Given the description of an element on the screen output the (x, y) to click on. 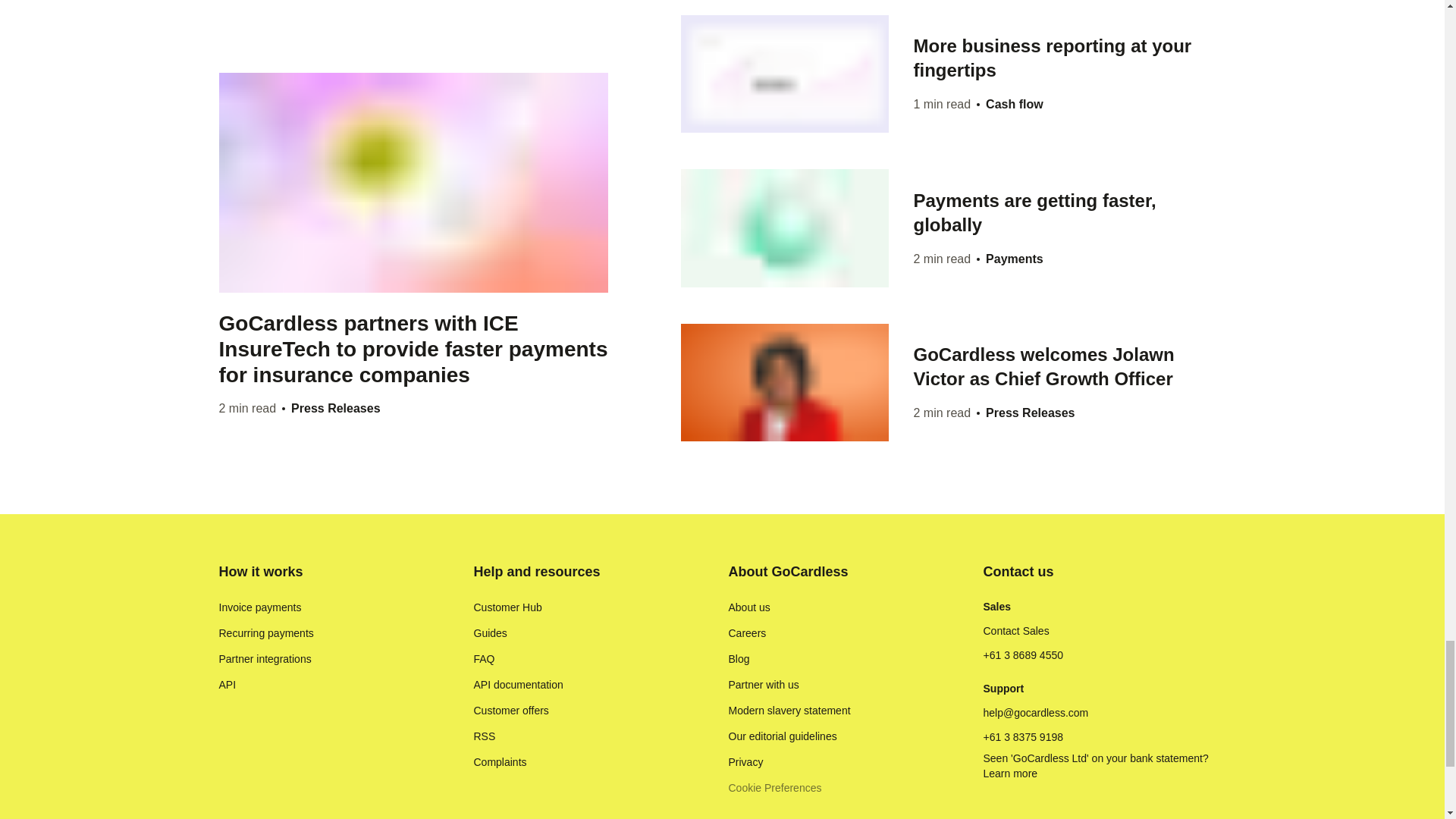
Customer offers (510, 710)
Customer Hub (507, 607)
Partner integrations (264, 658)
Recurring payments (265, 632)
Complaints (499, 761)
Careers (746, 632)
About us (749, 607)
Privacy (745, 761)
FAQ (484, 658)
Partner with us (762, 684)
